Given the description of an element on the screen output the (x, y) to click on. 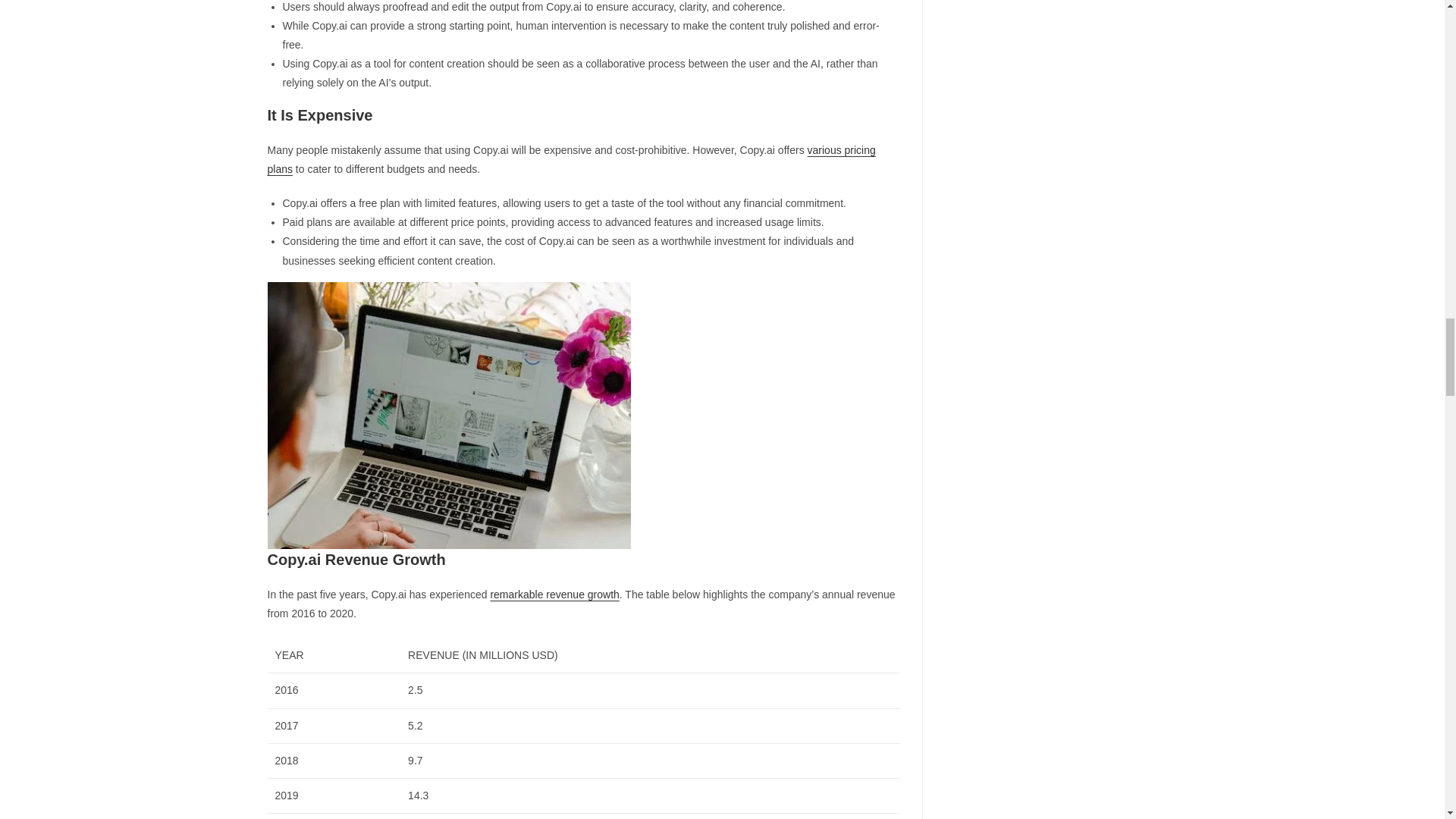
various pricing plans (570, 159)
remarkable revenue growth (553, 594)
Copy.ai: How to Use (448, 414)
